Given the description of an element on the screen output the (x, y) to click on. 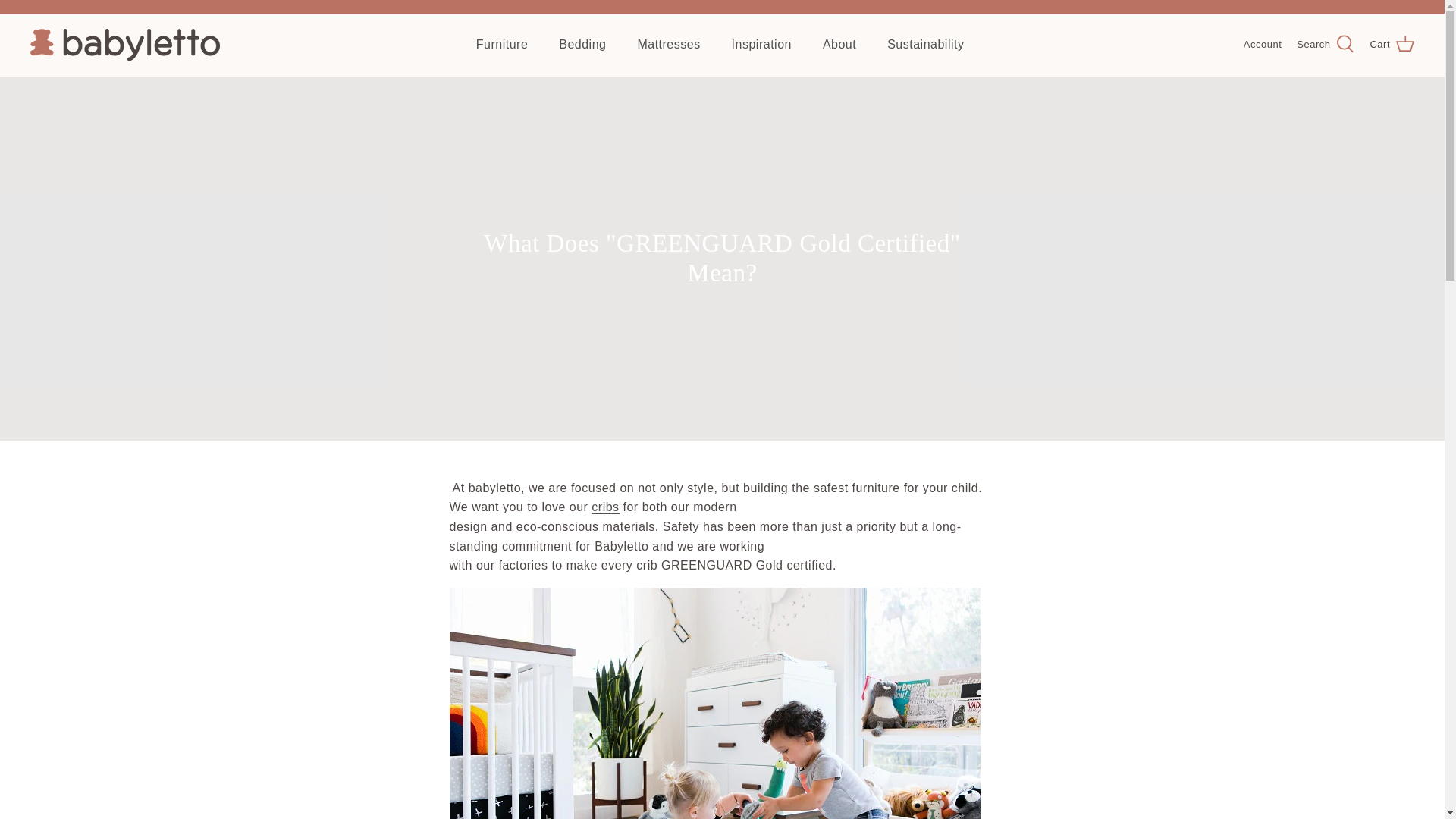
cribs (604, 507)
Mattresses (668, 44)
Sustainability (924, 44)
Inspiration (761, 44)
Bedding (582, 44)
Account (1262, 44)
Furniture (502, 44)
Babyletto (124, 44)
Search (1325, 44)
About (839, 44)
